Given the description of an element on the screen output the (x, y) to click on. 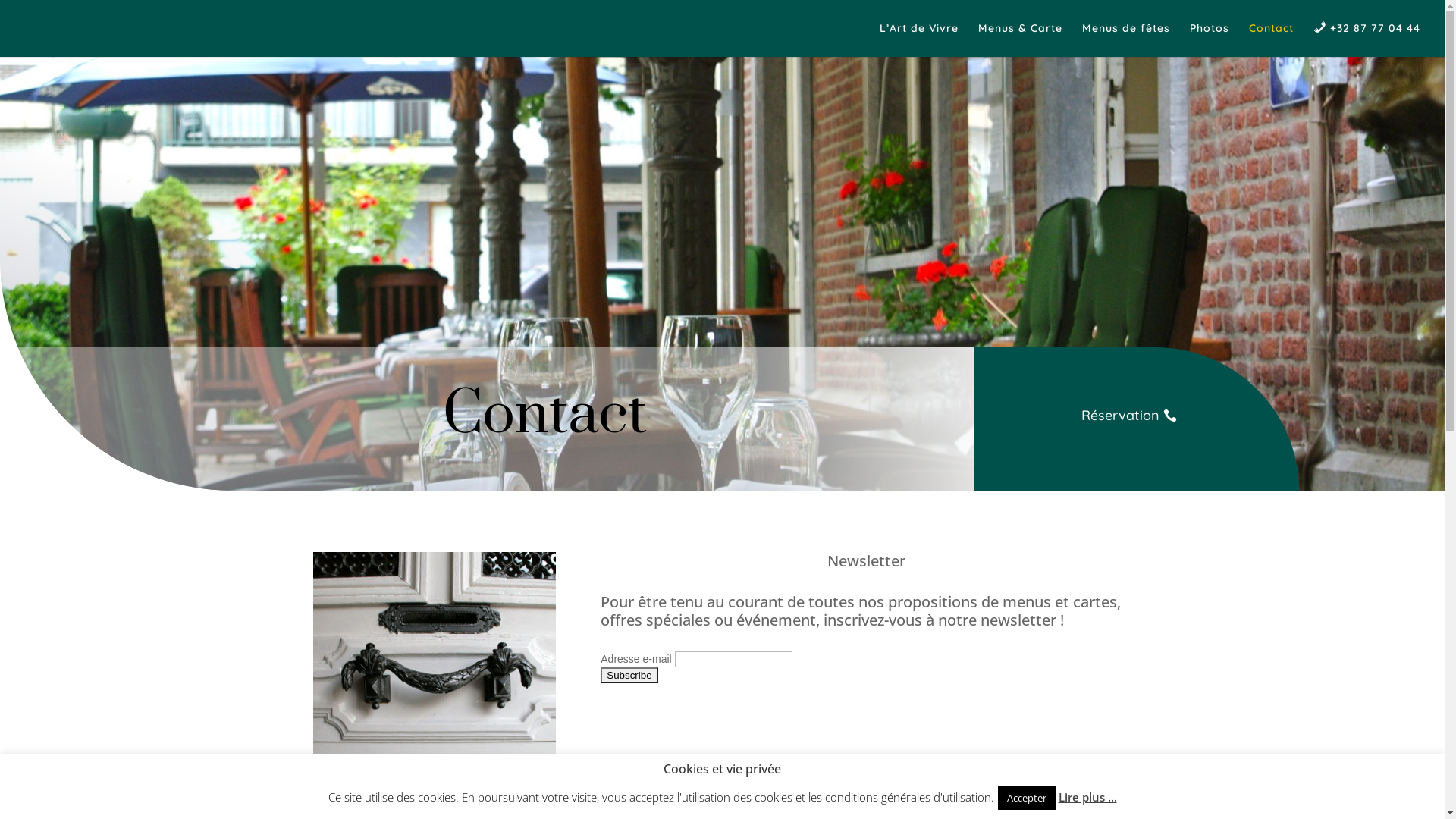
Subscribe Element type: text (628, 675)
Photos Element type: text (1209, 39)
Accepter Element type: text (1026, 797)
Lire plus ... Element type: text (1087, 796)
Contact Element type: text (1270, 39)
+32 87 77 04 44 Element type: text (1366, 39)
Menus & Carte Element type: text (1020, 39)
